Given the description of an element on the screen output the (x, y) to click on. 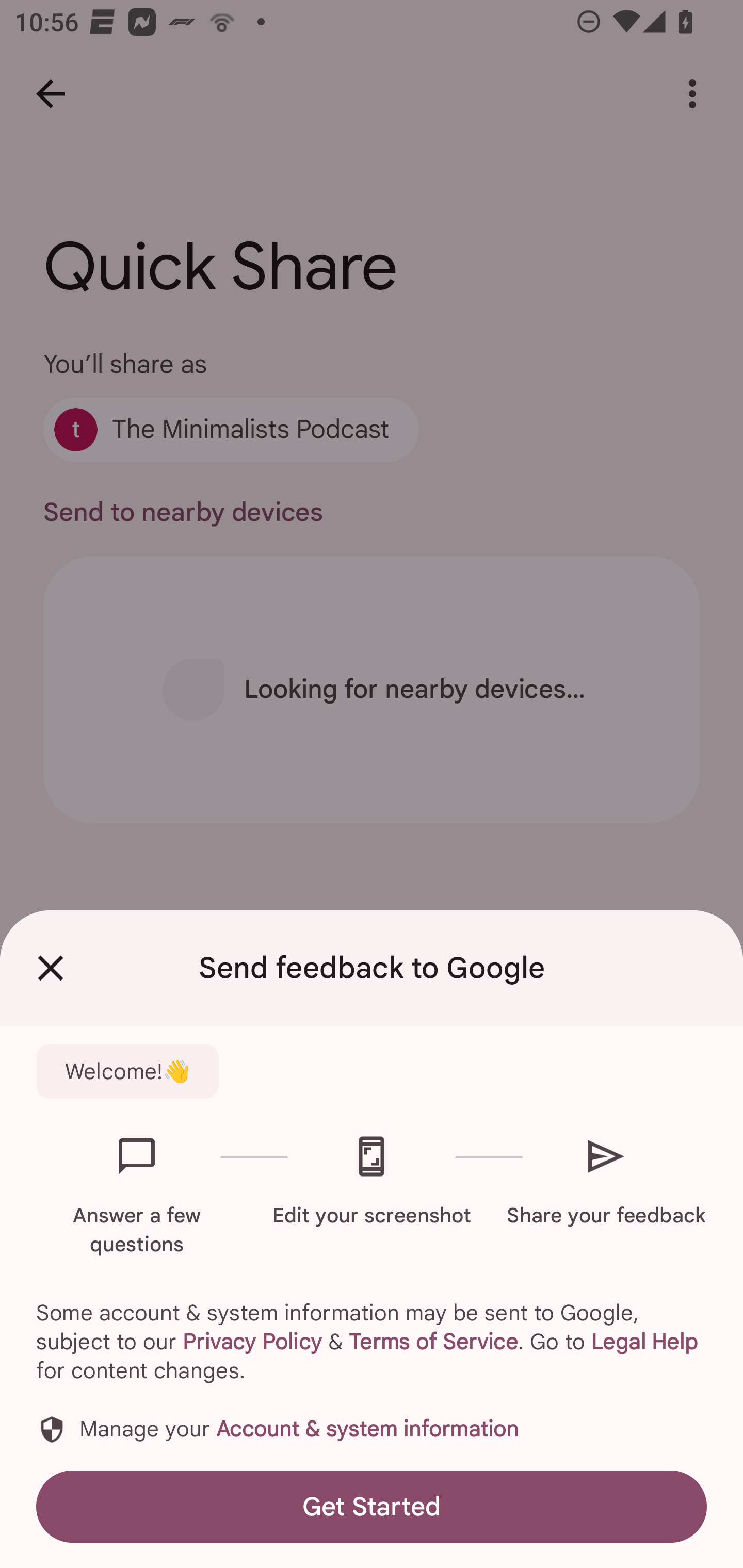
Close Feedback (50, 968)
Get Started (371, 1505)
